Given the description of an element on the screen output the (x, y) to click on. 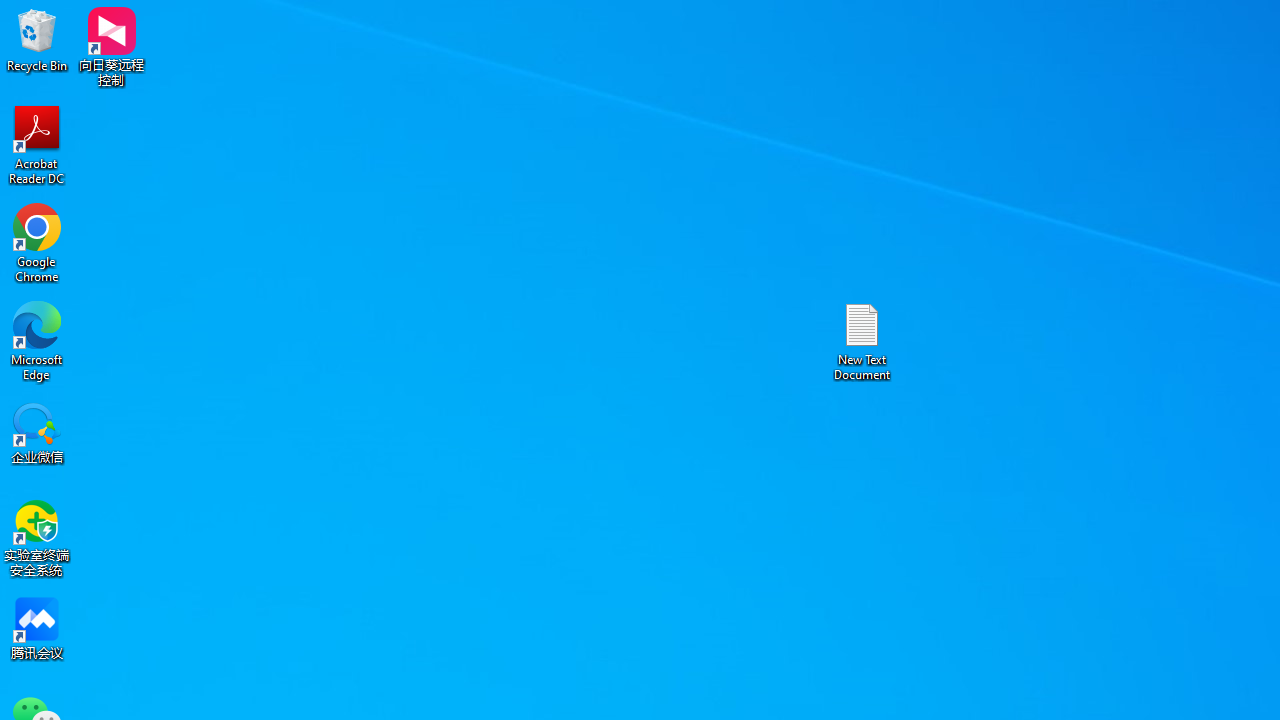
Acrobat Reader DC (37, 144)
New Text Document (861, 340)
Recycle Bin (37, 39)
Google Chrome (37, 242)
Microsoft Edge (37, 340)
